Given the description of an element on the screen output the (x, y) to click on. 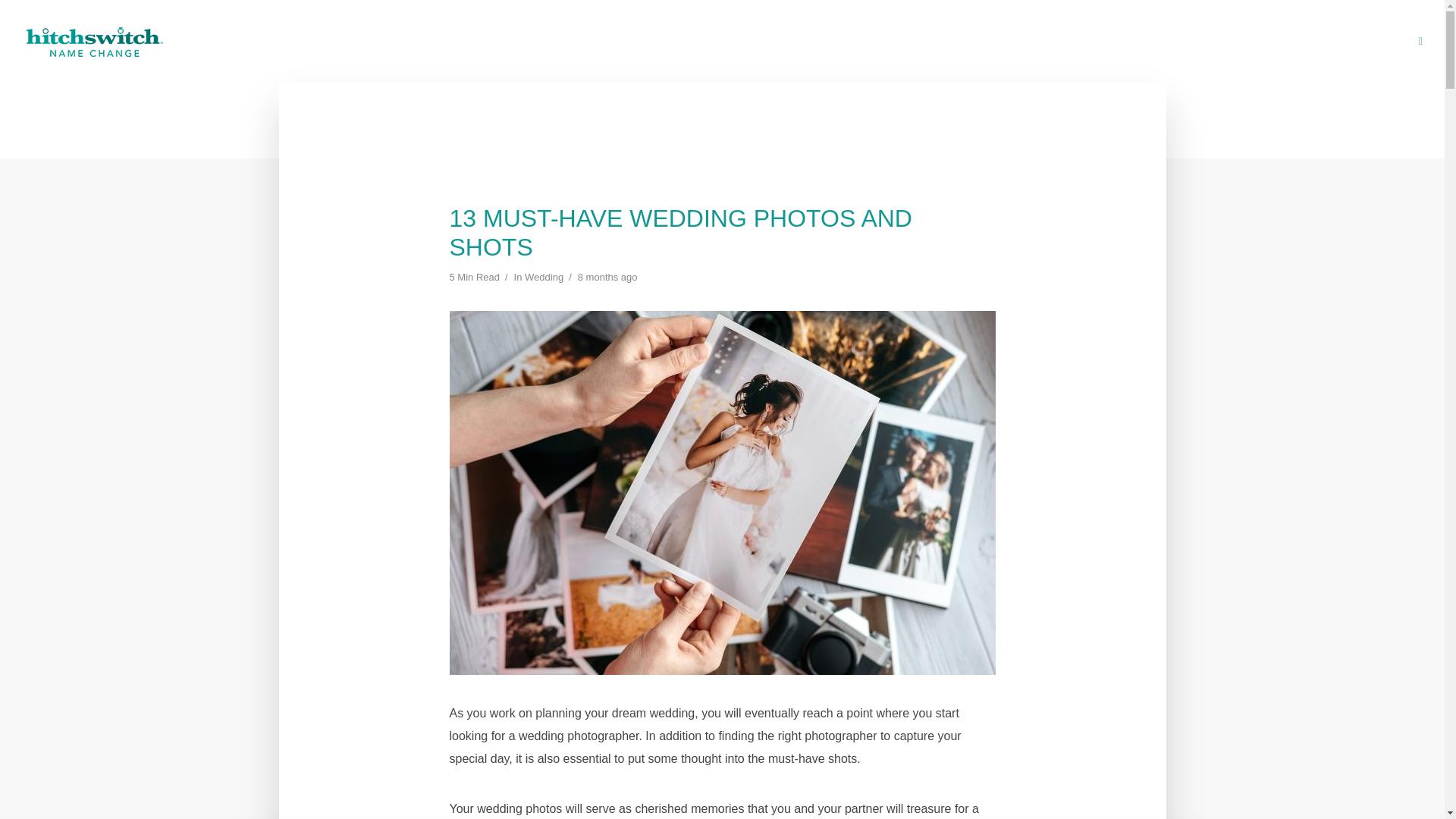
Wedding (543, 278)
